Given the description of an element on the screen output the (x, y) to click on. 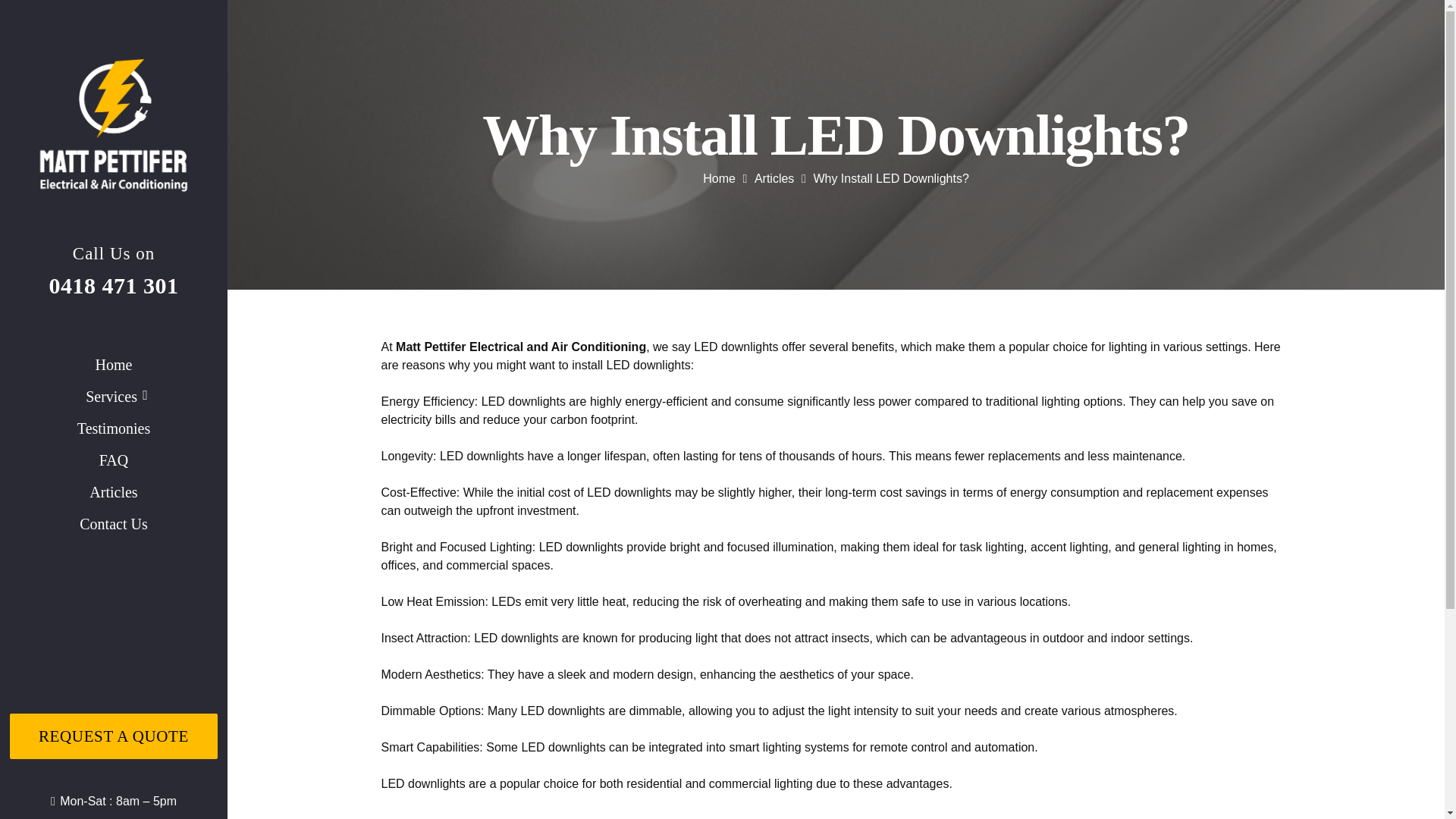
REQUEST A QUOTE (113, 736)
Home (719, 178)
Contact Us (113, 523)
Why Install LED Downlights? (890, 178)
FAQ (113, 459)
Articles (113, 491)
Articles (773, 178)
Services (113, 396)
Home (113, 364)
0418 471 301 (112, 285)
Testimonies (113, 428)
